Given the description of an element on the screen output the (x, y) to click on. 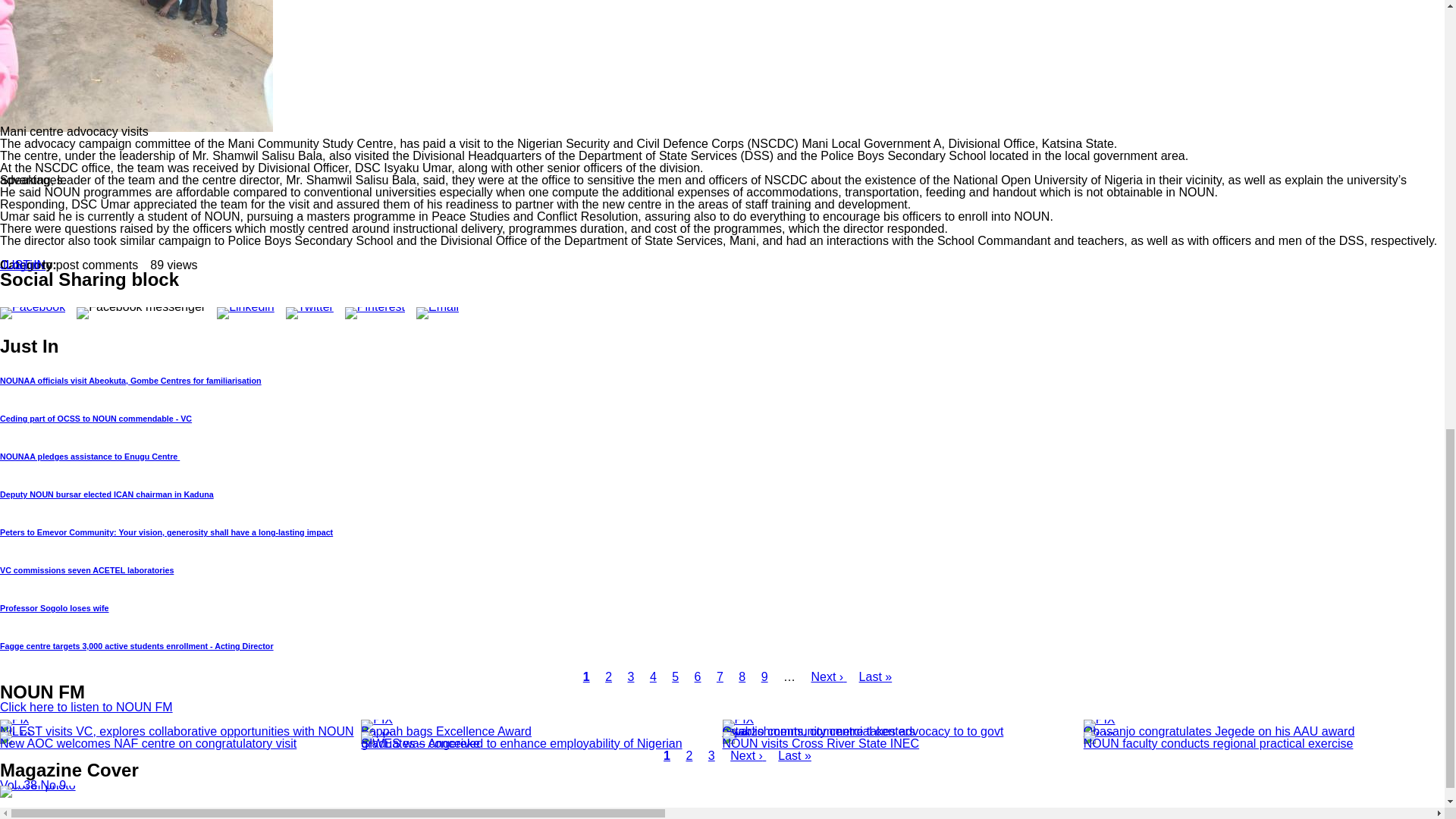
Log in (22, 264)
JUST IN (22, 264)
Go to next page (827, 676)
VC commissions seven ACETEL laboratories (86, 569)
Professor Sogolo loses wife (54, 607)
Linkedin (245, 306)
Email (437, 306)
NOUNAA pledges assistance to Enugu Centre  (89, 456)
Pinterest (374, 306)
